Given the description of an element on the screen output the (x, y) to click on. 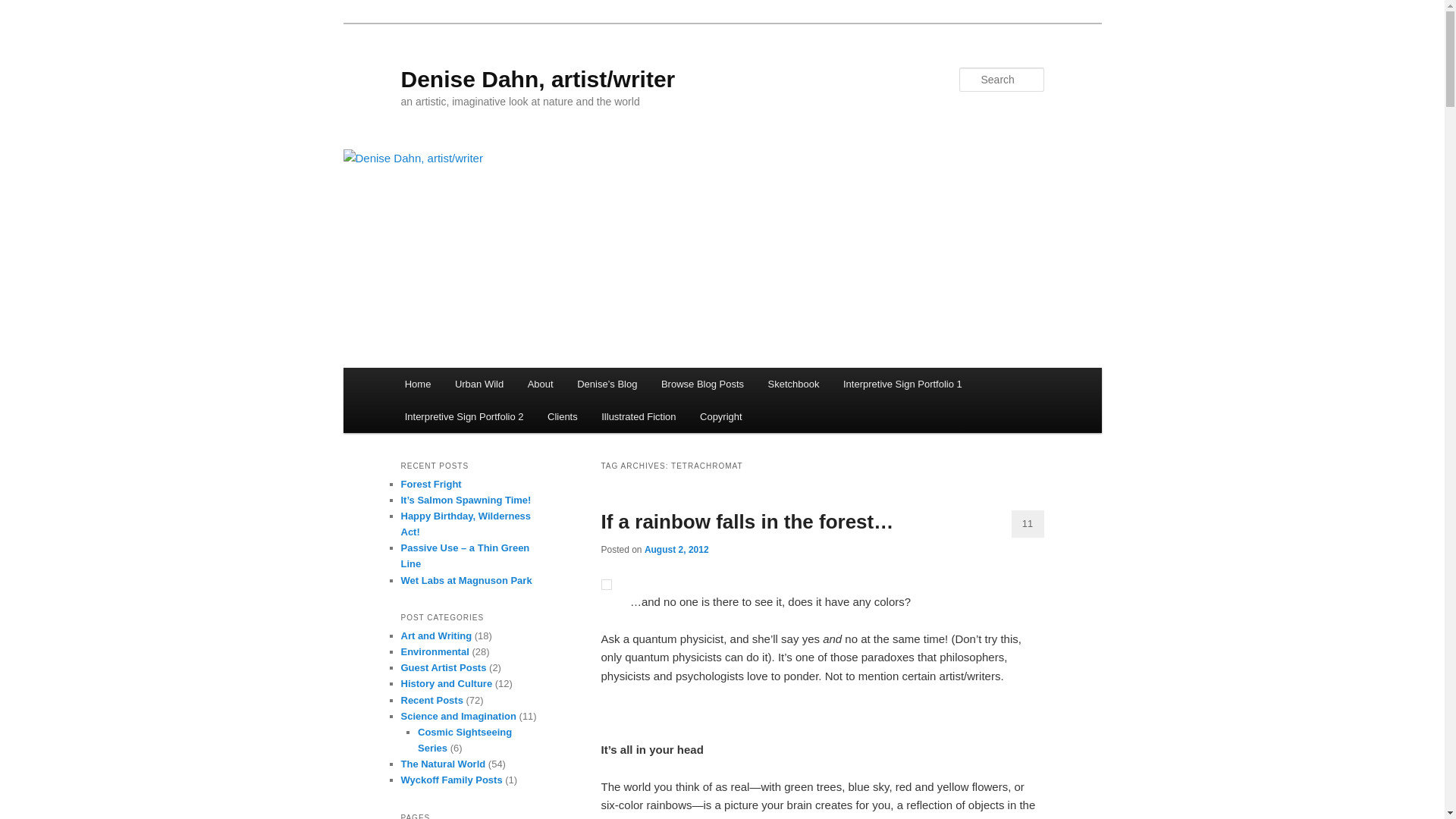
Interpretive Sign Portfolio 2 (464, 416)
forest1 (605, 584)
Home (417, 383)
Browse Blog Posts (702, 383)
Interpretive Sign Portfolio 1 (902, 383)
About (539, 383)
2:06 pm (677, 549)
Search (24, 8)
Sketchbook (793, 383)
Urban Wild (478, 383)
